Given the description of an element on the screen output the (x, y) to click on. 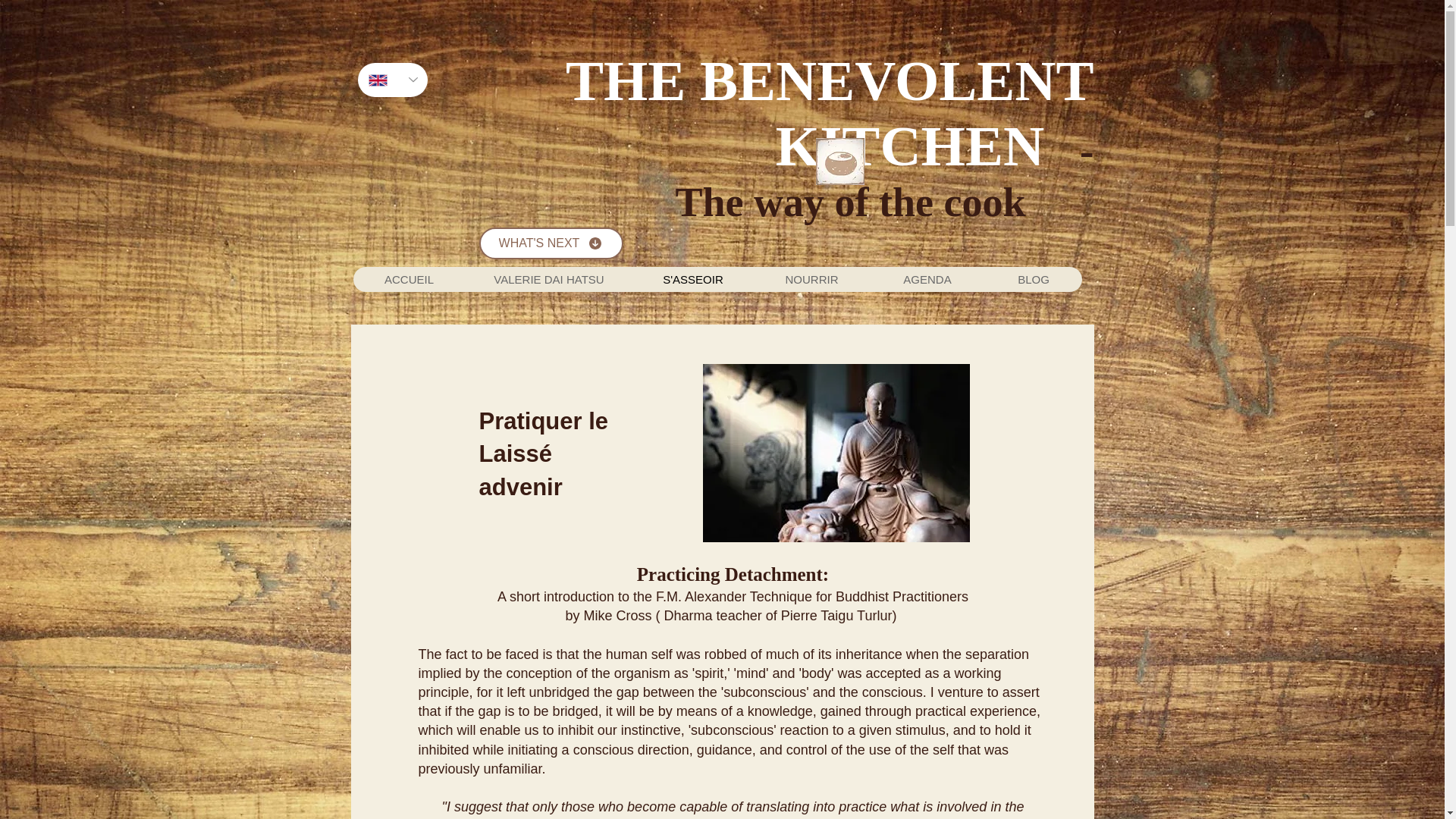
BLOG (1032, 278)
NOURRIR (811, 278)
ACCUEIL (409, 278)
AGENDA (926, 278)
VALERIE DAI HATSU (548, 278)
WHAT'S NEXT (551, 243)
S'ASSEOIR (692, 278)
